Given the description of an element on the screen output the (x, y) to click on. 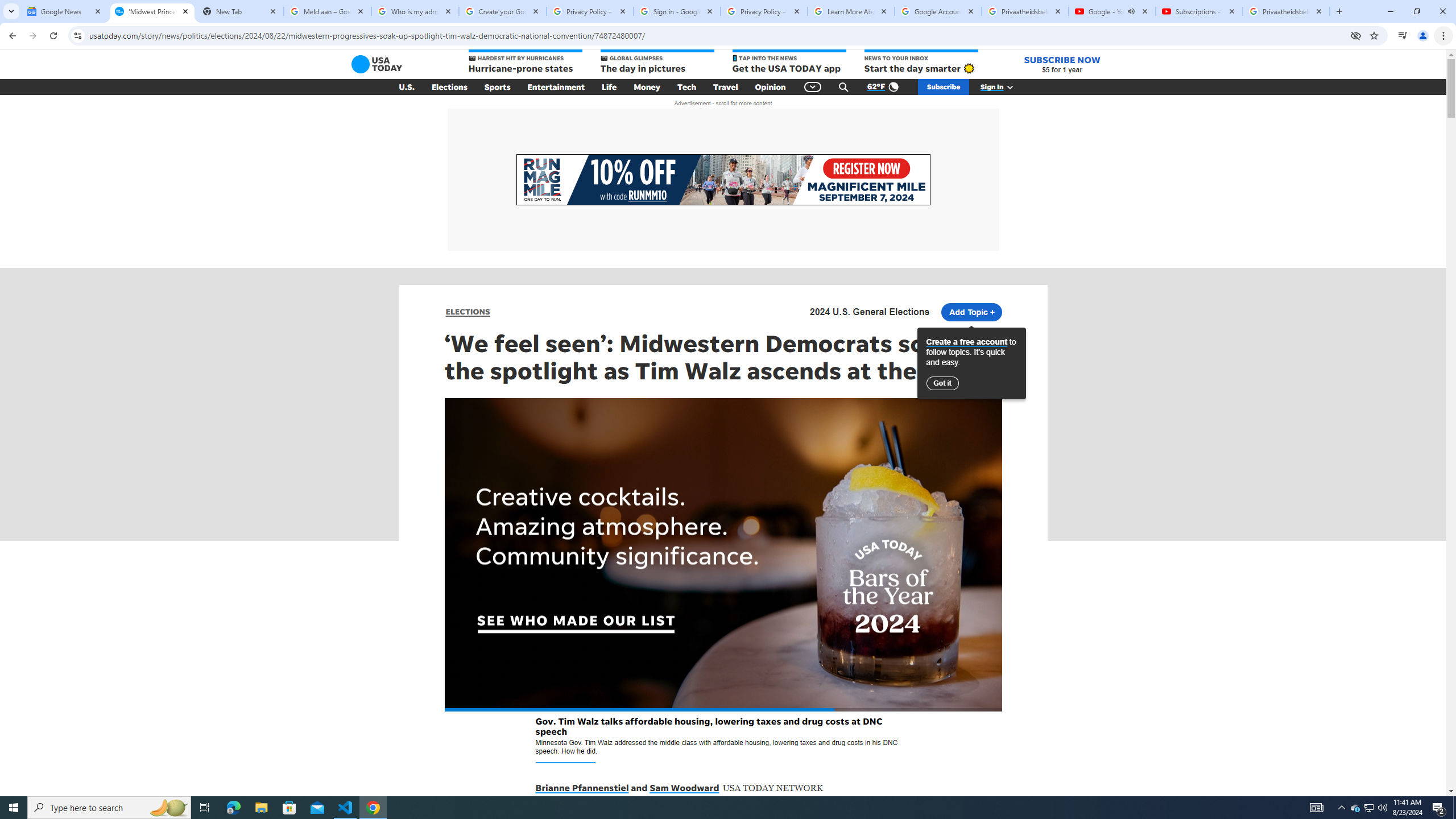
Third-party cookies blocked (1355, 35)
Back (10, 35)
Brianne Pfannenstiel (581, 788)
Entertainment (556, 87)
SUBSCRIBE NOW $5 for 1 year (1062, 64)
Travel (725, 87)
Google Account (938, 11)
Restore (1416, 11)
Google - YouTube - Audio playing (1111, 11)
Mute tab (1130, 10)
Bookmark this tab (1373, 35)
